Given the description of an element on the screen output the (x, y) to click on. 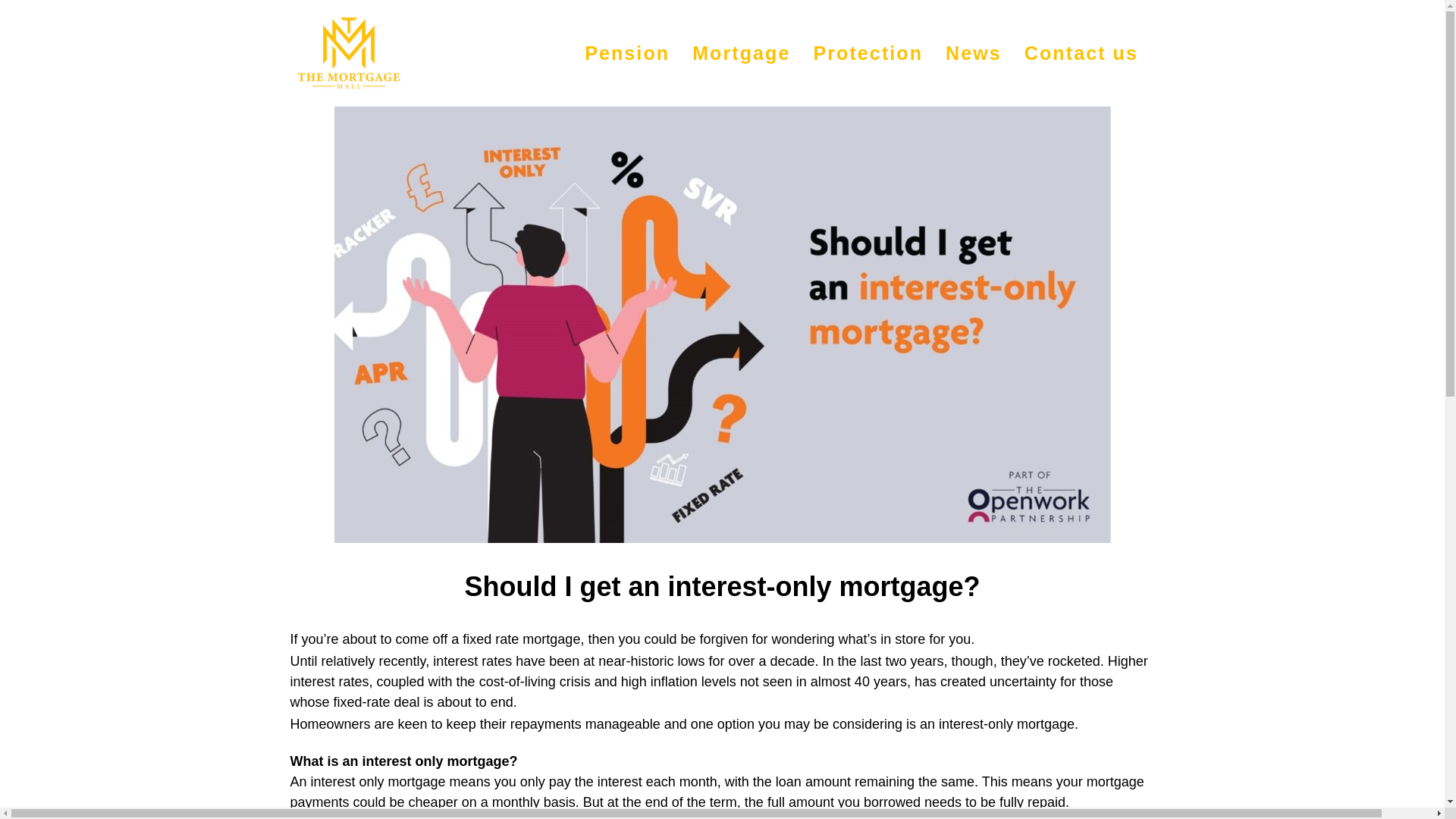
Contact us (1081, 52)
Pension (722, 131)
News (973, 52)
Mortgage (741, 52)
Pension (627, 52)
Protection (868, 52)
